Given the description of an element on the screen output the (x, y) to click on. 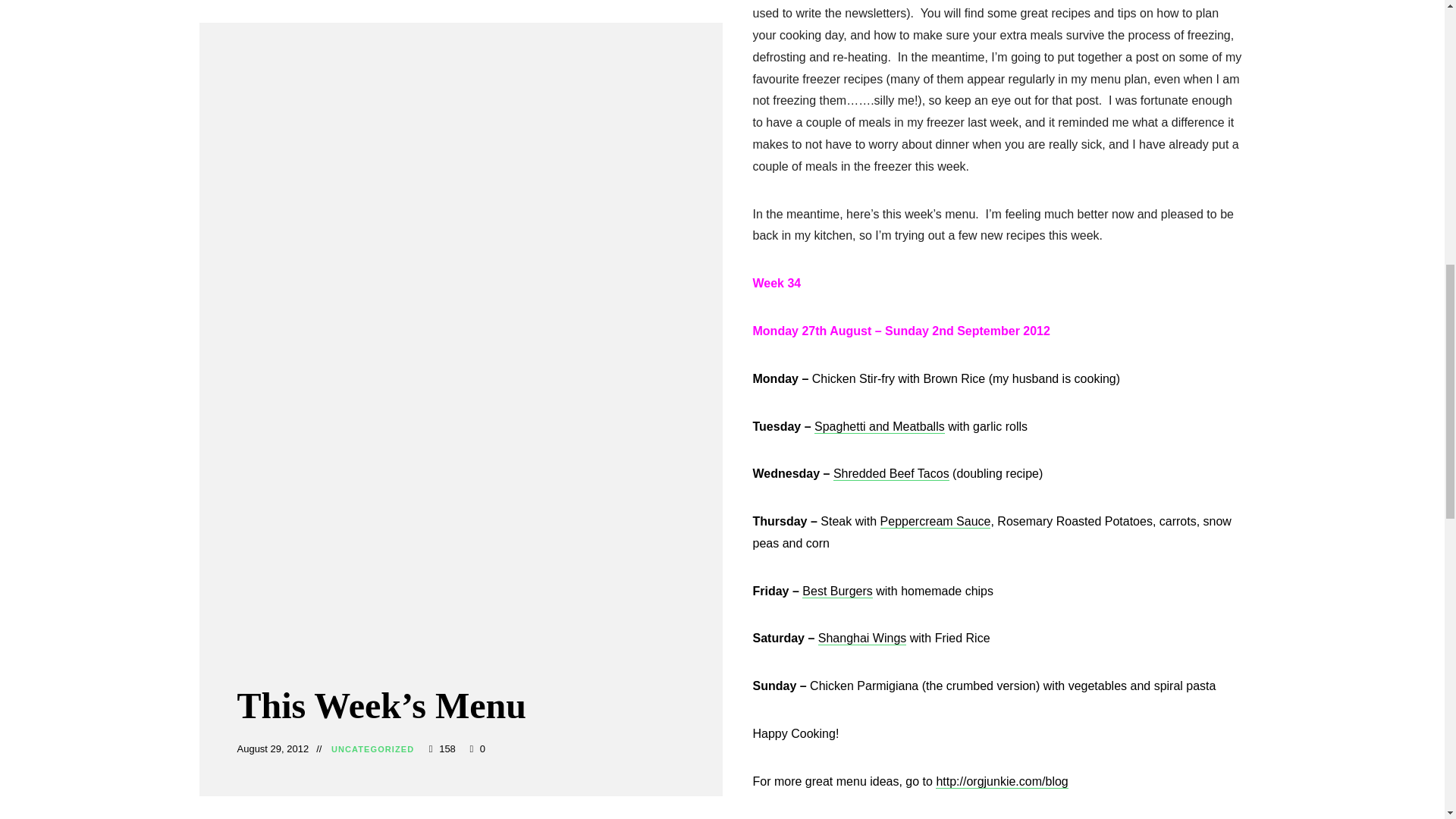
Best Burgers (837, 590)
Shanghai Wings (862, 637)
Spaghetti and Meatballs (878, 426)
Peppercream Sauce (935, 521)
Shredded Beef Tacos (890, 472)
